Given the description of an element on the screen output the (x, y) to click on. 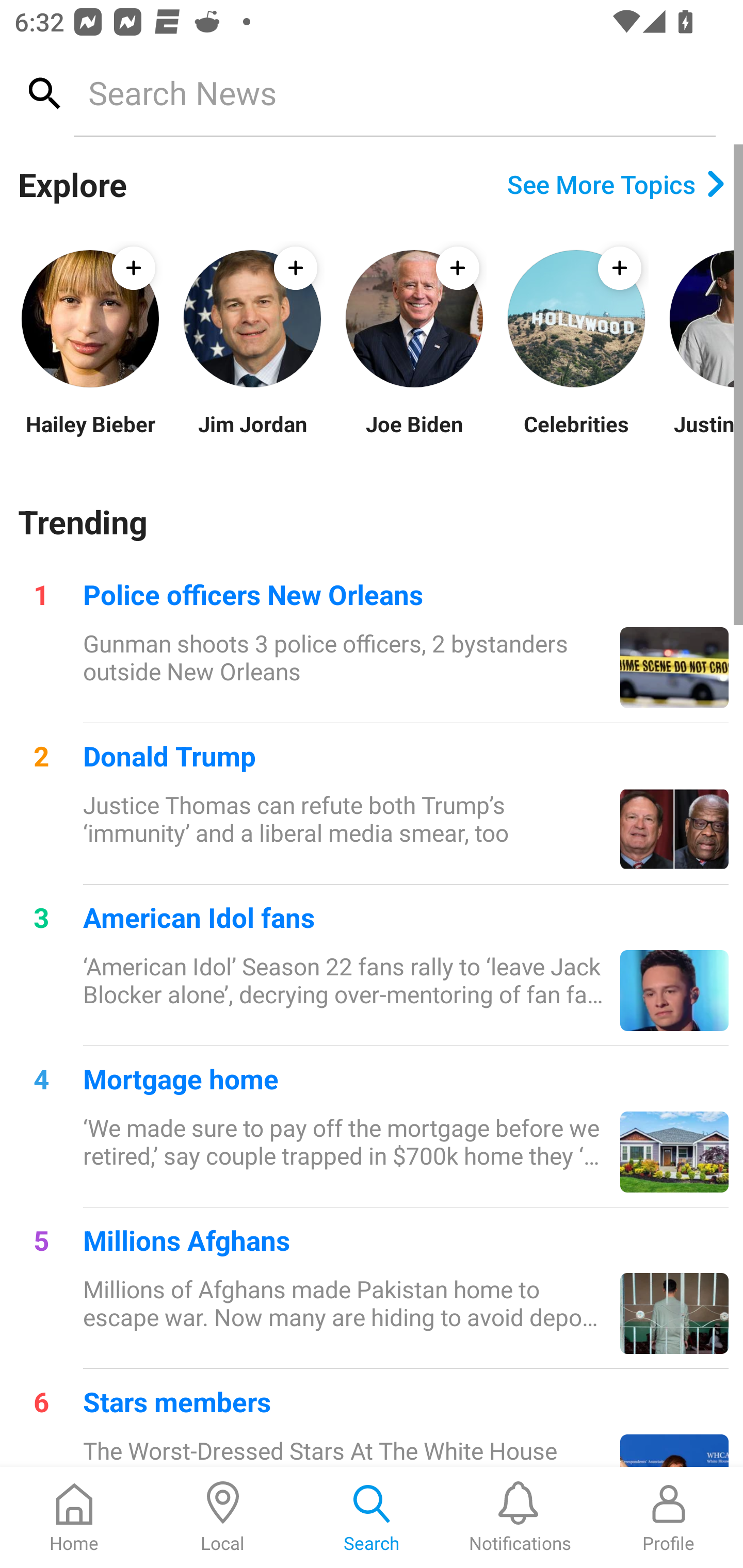
Search News (394, 92)
See More Topics (616, 183)
Hailey Bieber (89, 436)
Jim Jordan (251, 436)
Joe Biden (413, 436)
Celebrities (575, 436)
Justin Bieber (704, 436)
Home (74, 1517)
Local (222, 1517)
Notifications (519, 1517)
Profile (668, 1517)
